Given the description of an element on the screen output the (x, y) to click on. 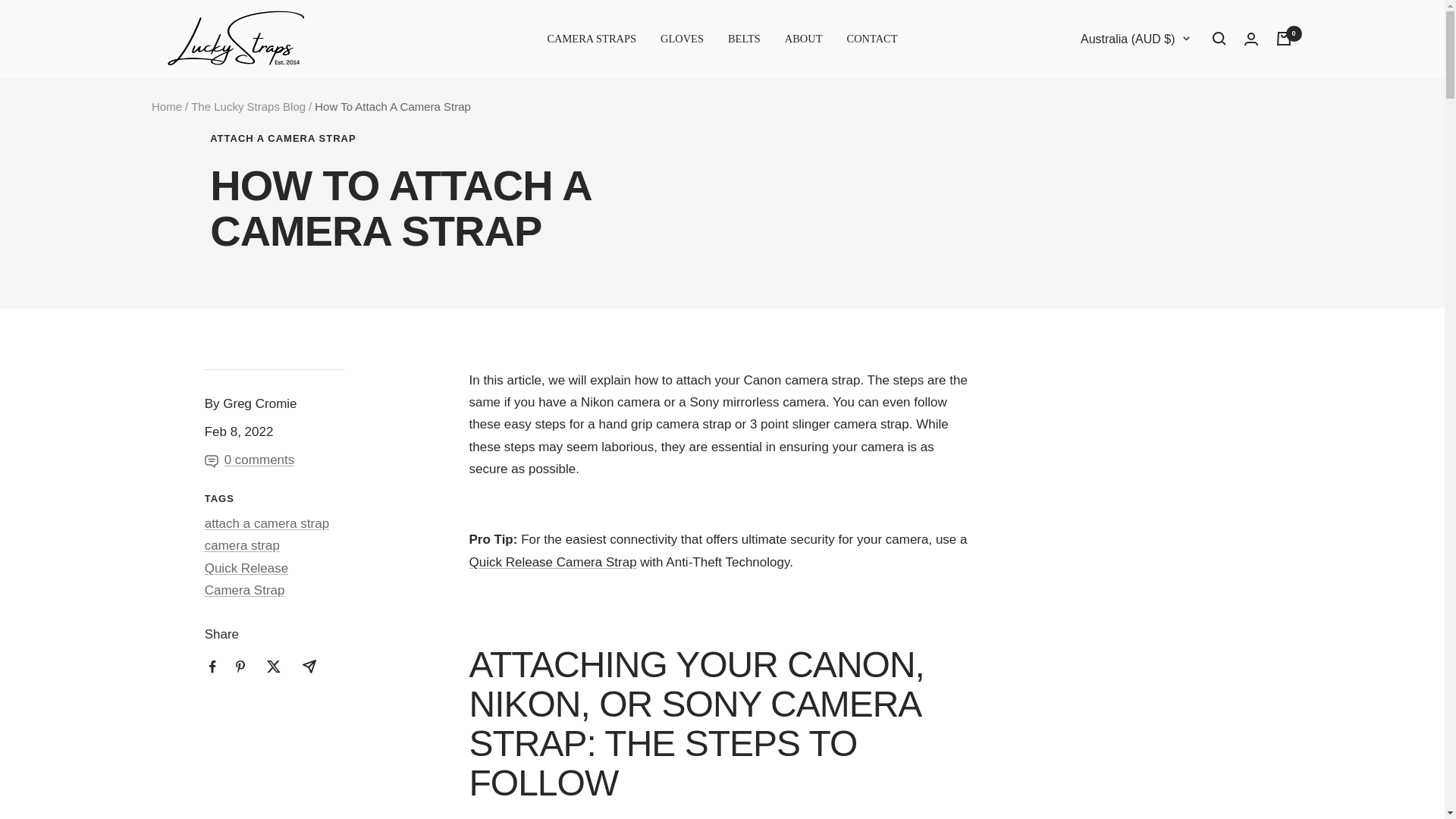
AZ (1022, 480)
BELTS (744, 38)
BJ (1022, 701)
AW (1022, 370)
AG (1022, 287)
CAMERA STRAPS (591, 38)
Lucky Camera Straps (236, 38)
BB (1022, 590)
AM (1022, 341)
AR (1022, 314)
